Given the description of an element on the screen output the (x, y) to click on. 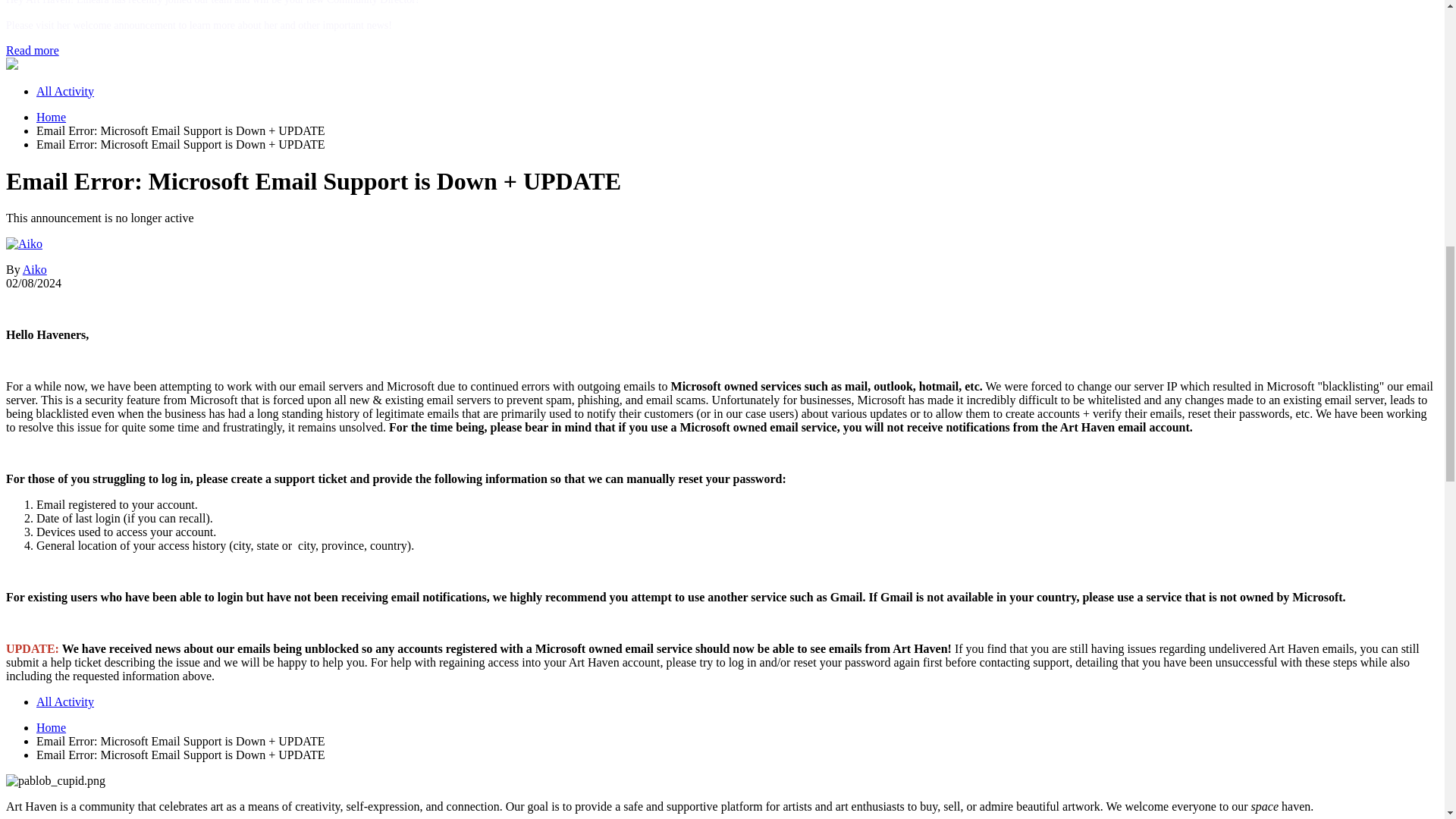
Go to Aiko's profile (34, 269)
Aiko (34, 269)
All Activity (65, 91)
Go to Aiko's profile (23, 243)
Home (50, 727)
Home (50, 116)
Read more (32, 50)
Home (50, 727)
All Activity (65, 701)
Home (50, 116)
